Given the description of an element on the screen output the (x, y) to click on. 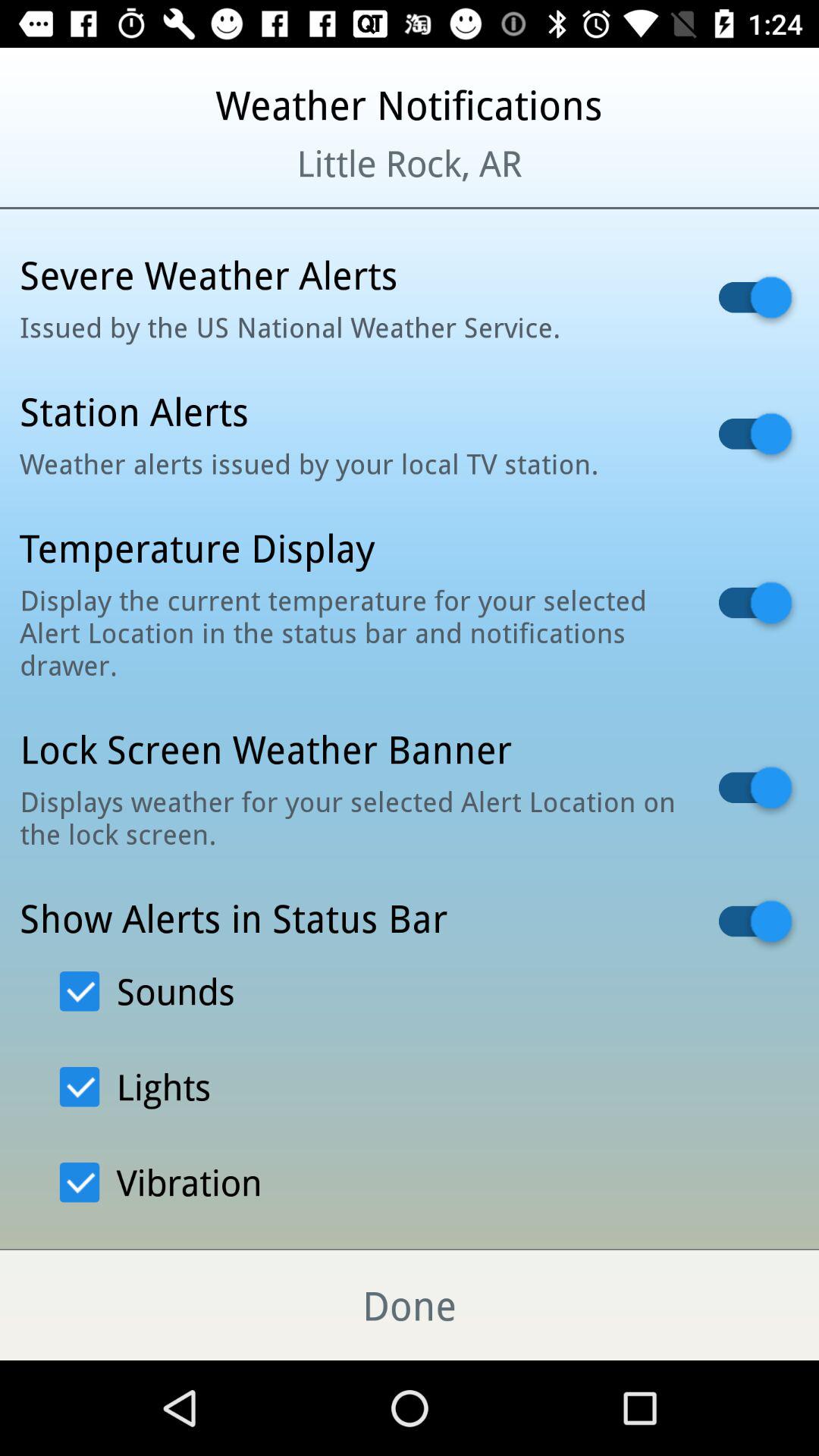
choose the item below the temperature display item (349, 632)
